Given the description of an element on the screen output the (x, y) to click on. 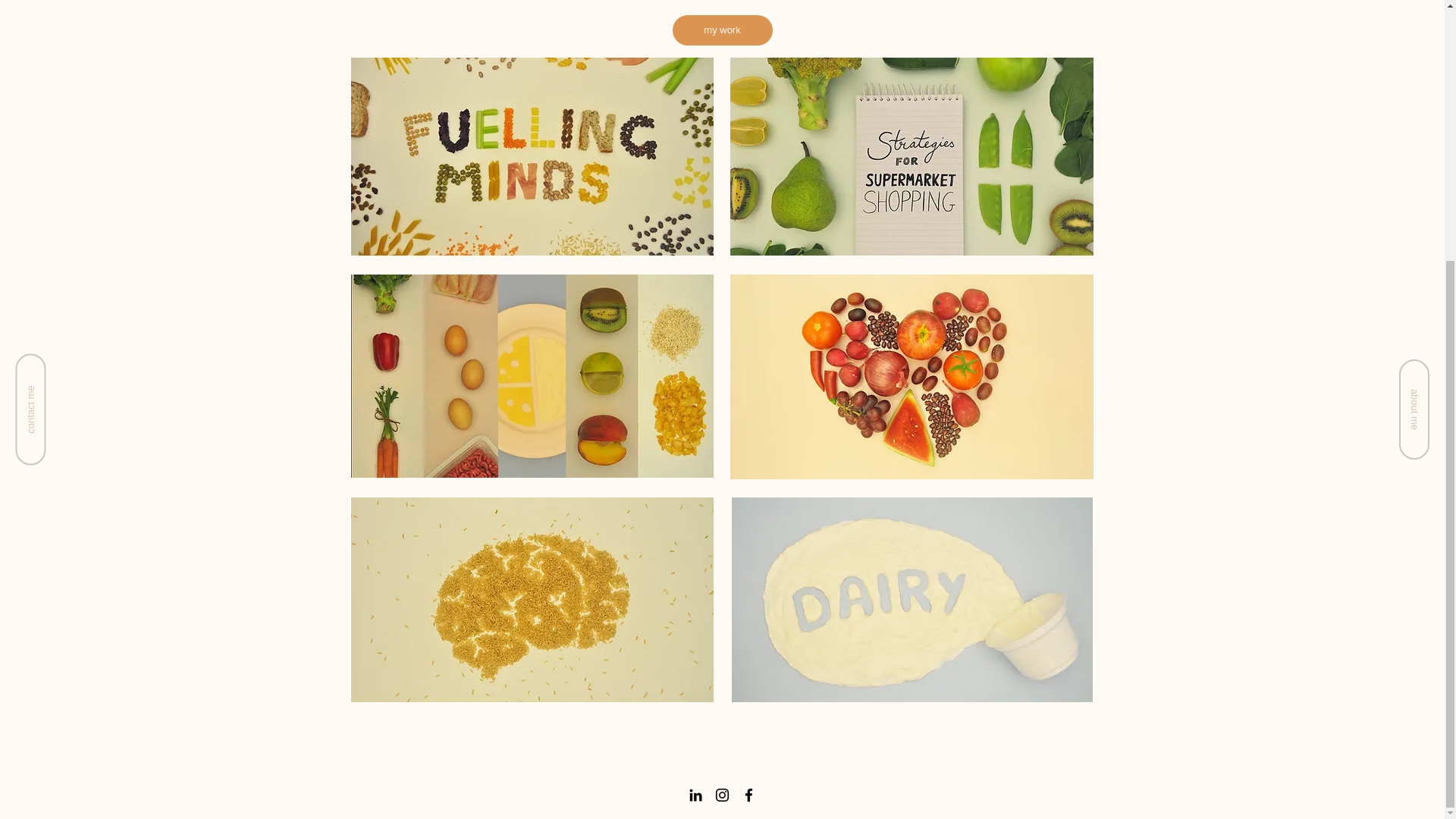
contact me (70, 5)
